Given the description of an element on the screen output the (x, y) to click on. 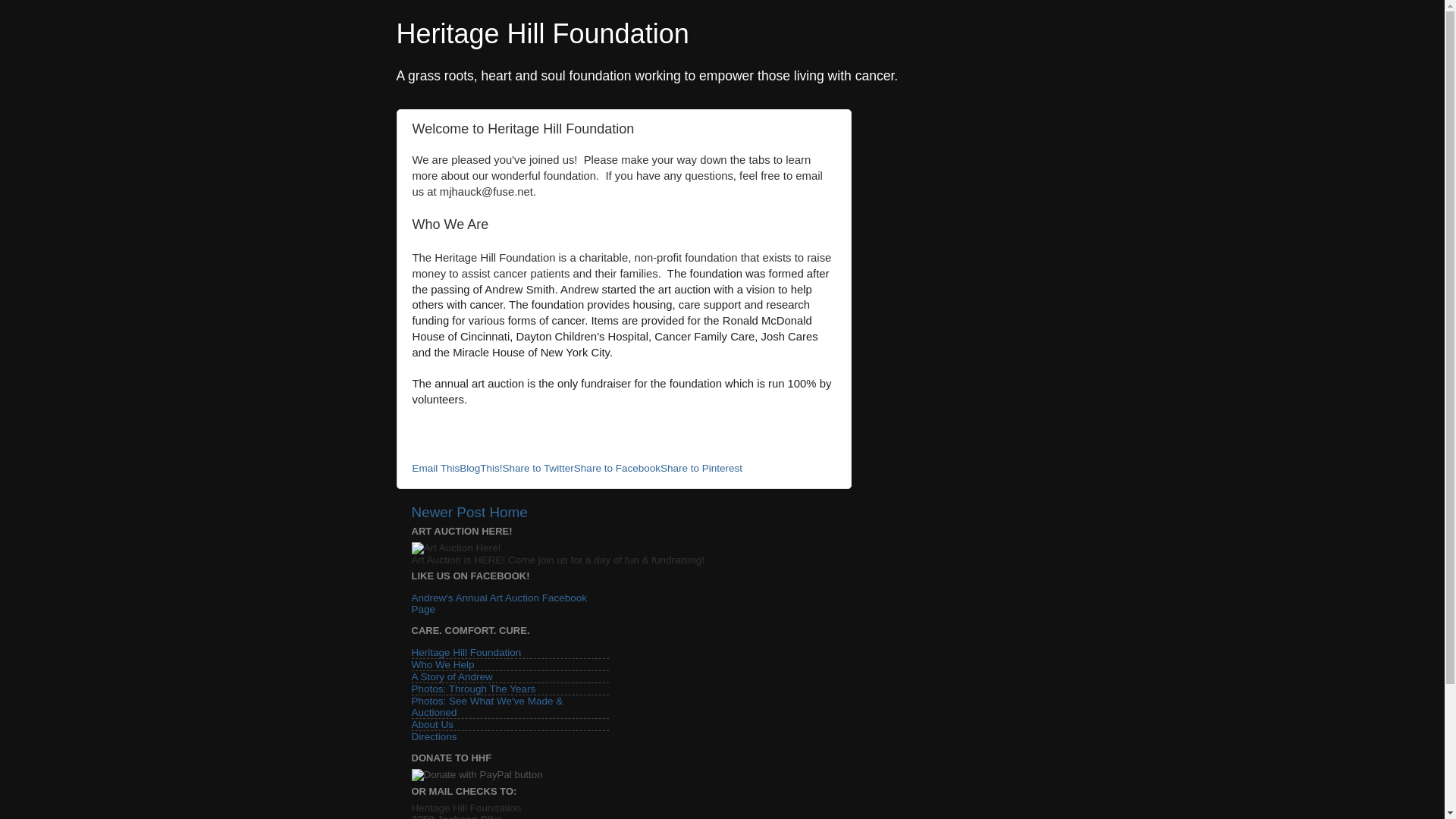
Share to Pinterest (701, 468)
Newer Post (447, 512)
Heritage Hill Foundation (542, 33)
Share to Facebook (617, 468)
PayPal - The safer, easier way to pay online! (475, 775)
A Story of Andrew (451, 676)
About Us (431, 724)
Photos: Through The Years (472, 688)
Email This (436, 468)
Andrew's Annual Art Auction Facebook Page (498, 603)
